Given the description of an element on the screen output the (x, y) to click on. 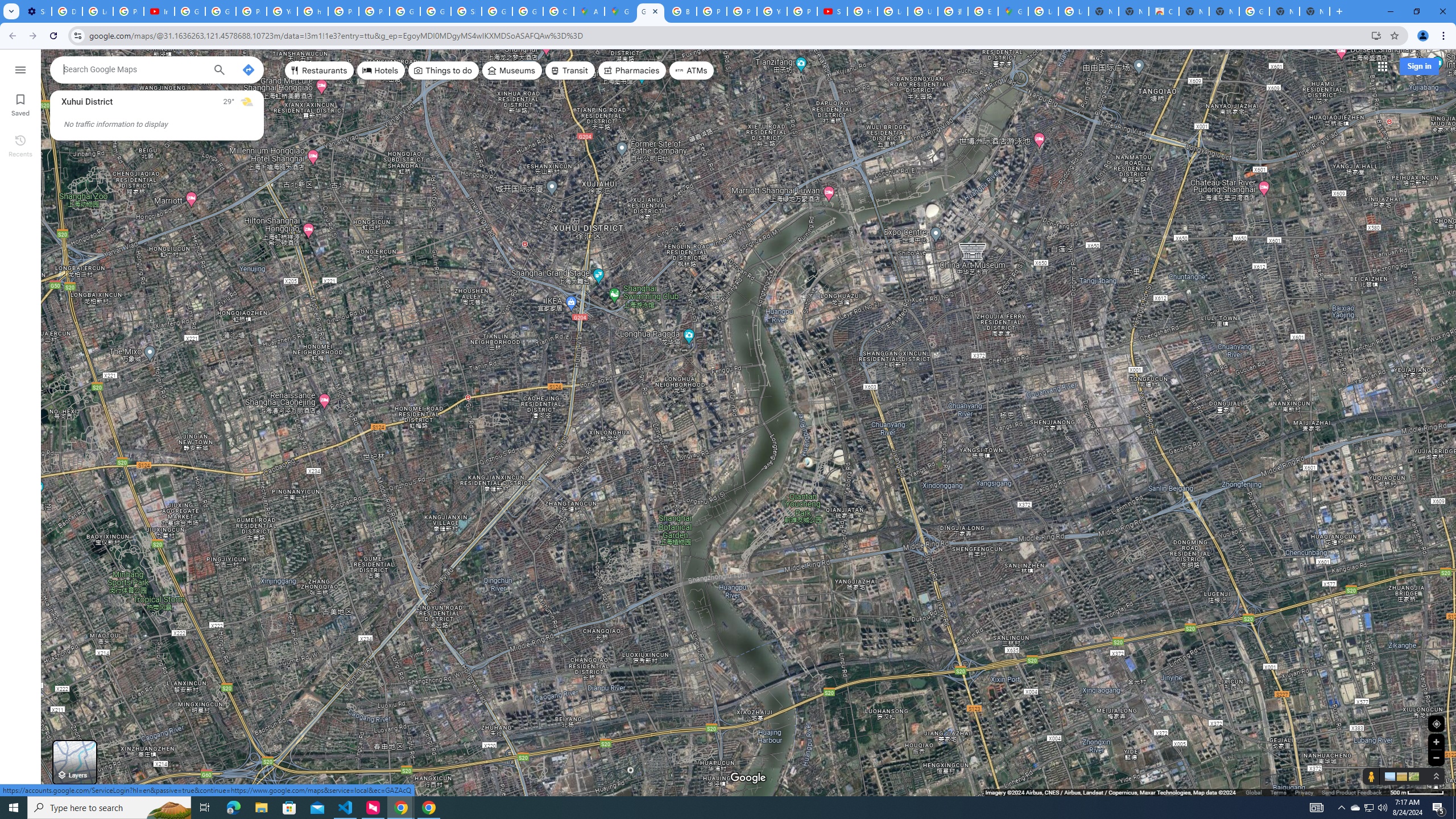
Privacy Help Center - Policies Help (711, 11)
Chrome Web Store (1163, 11)
How Chrome protects your passwords - Google Chrome Help (862, 11)
Delete photos & videos - Computer - Google Photos Help (66, 11)
Google Account Help (189, 11)
